Given the description of an element on the screen output the (x, y) to click on. 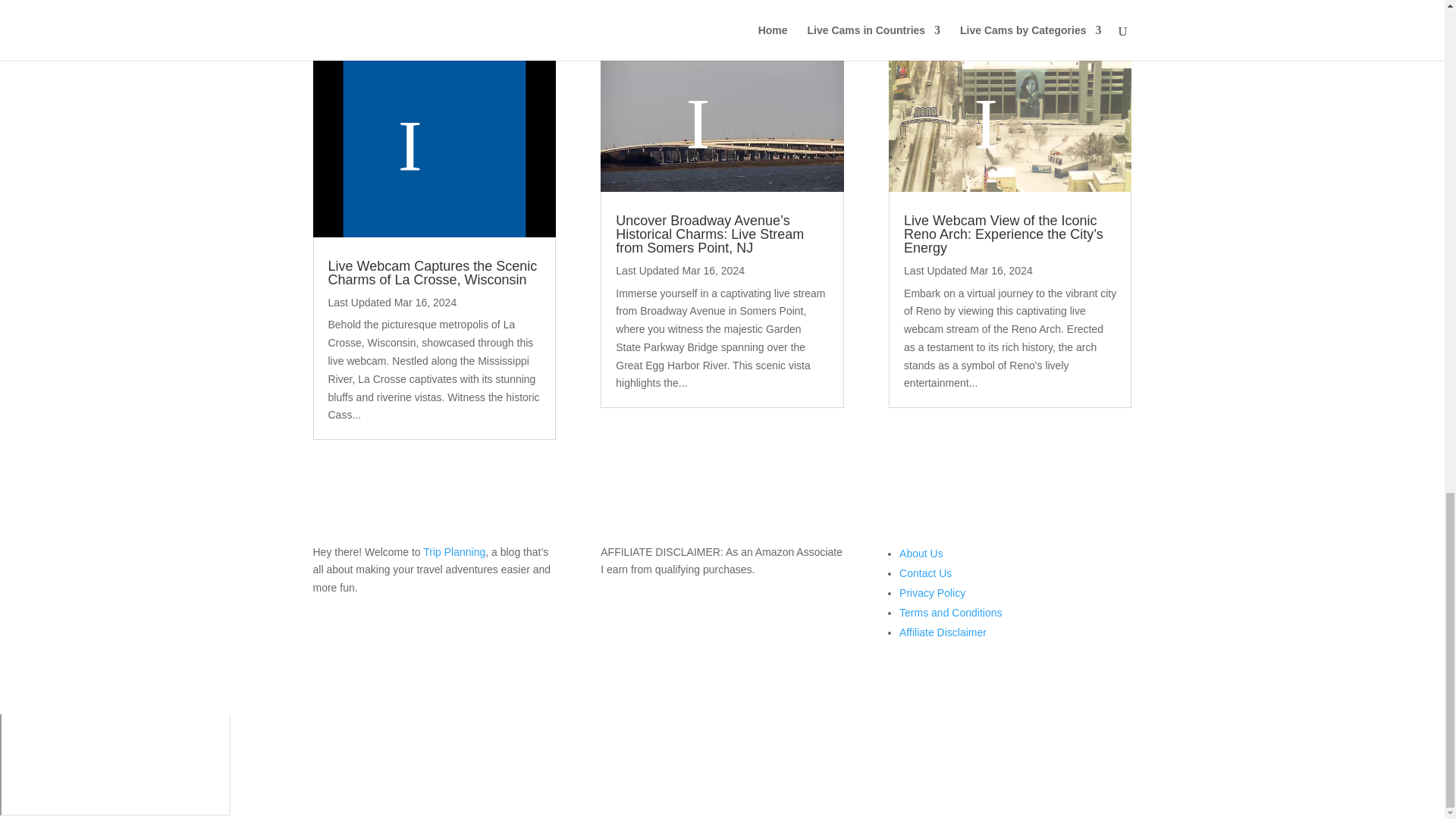
Gardens State Parkway Bridge over the Egg Harbor River (721, 122)
News 8 Now City Cam Live Stream (433, 145)
